Given the description of an element on the screen output the (x, y) to click on. 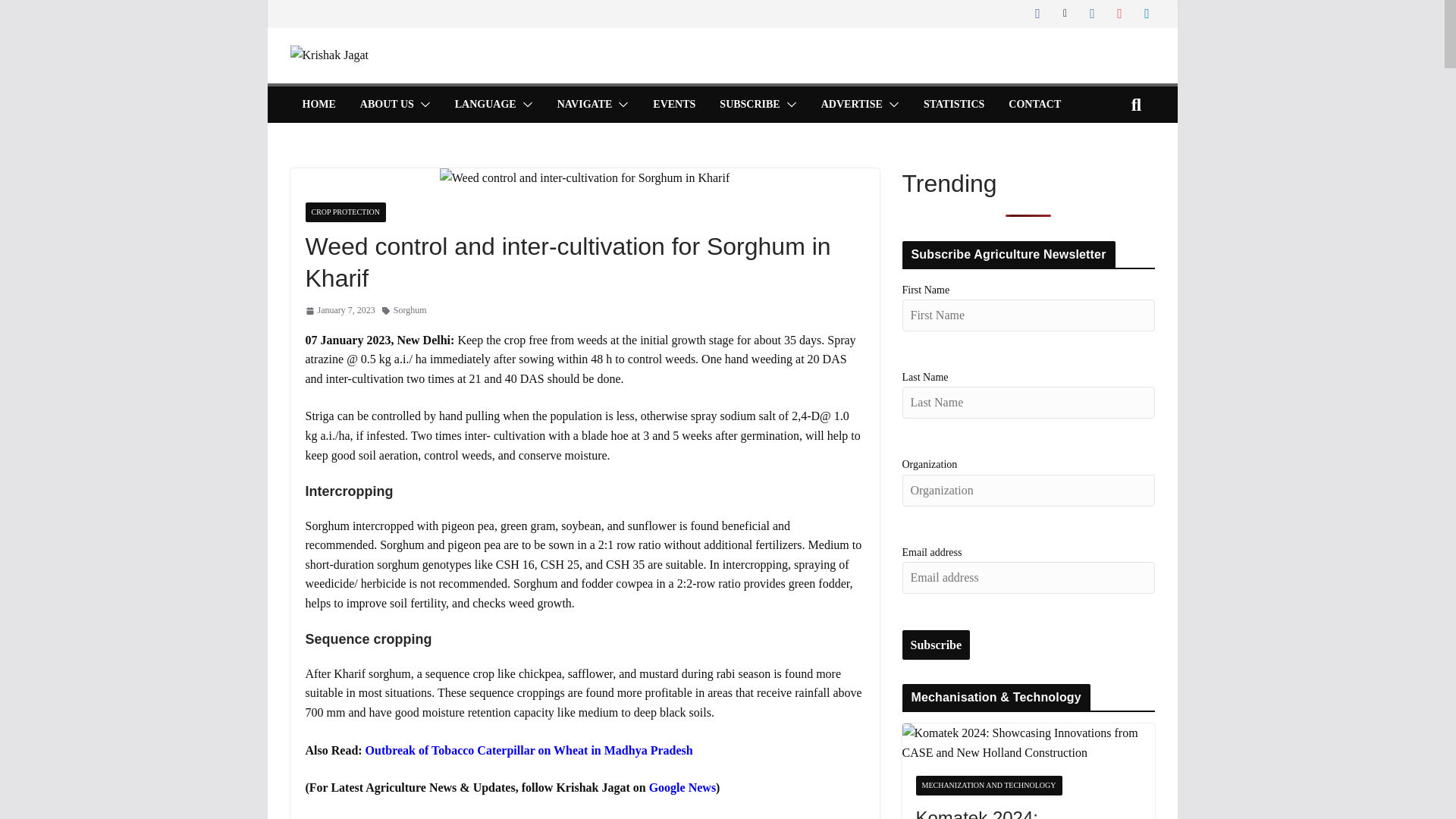
HOME (317, 104)
ADVERTISE (851, 104)
NAVIGATE (584, 104)
EVENTS (673, 104)
SUBSCRIBE (748, 104)
ABOUT US (386, 104)
9:22 pm (339, 310)
Subscribe (936, 644)
LANGUAGE (485, 104)
